Given the description of an element on the screen output the (x, y) to click on. 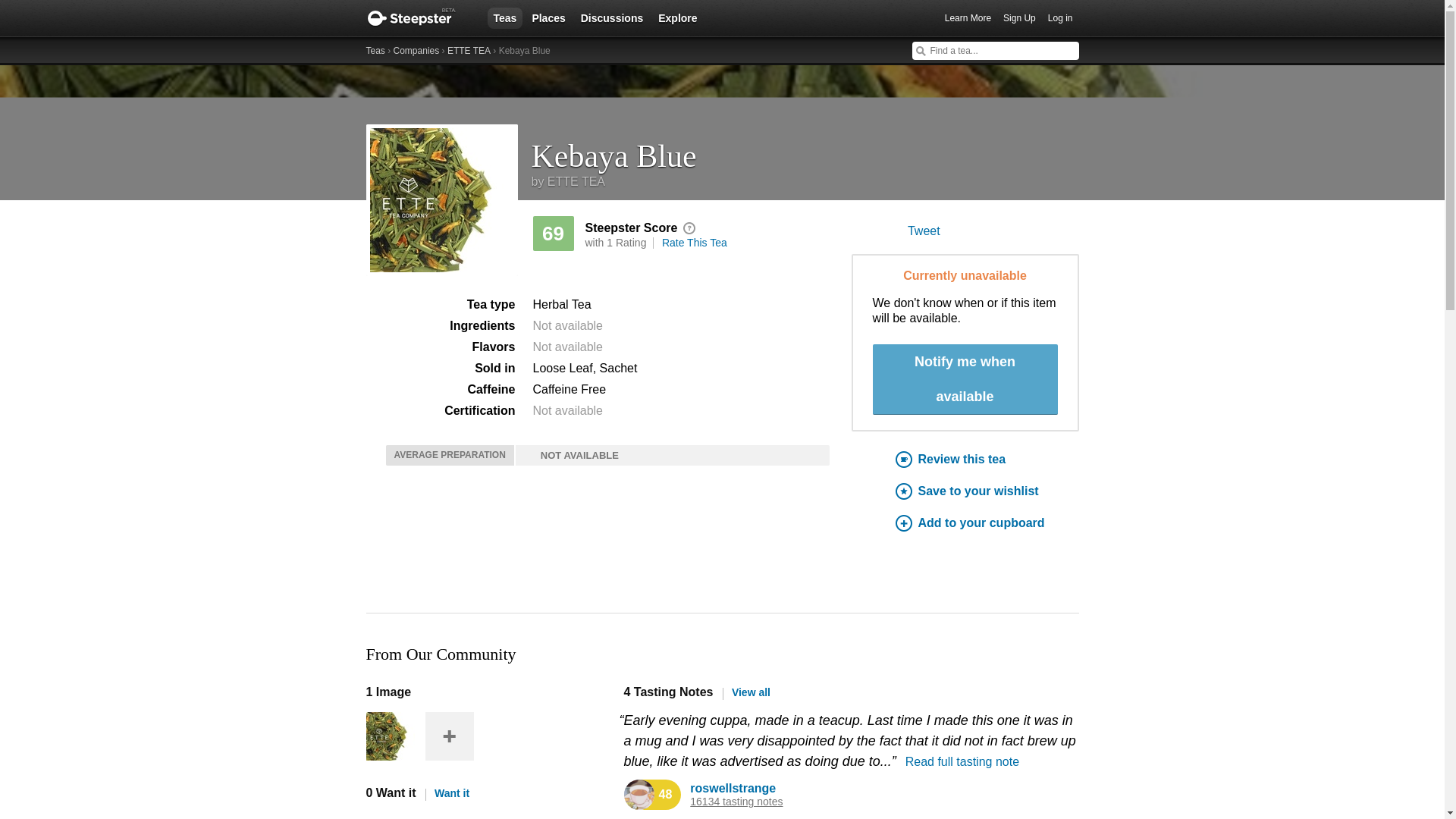
Sign Up (1019, 18)
Learn More (968, 18)
Read full tasting note (962, 761)
Companies (416, 50)
View all (746, 692)
Save to your wishlist (986, 490)
Steepster (418, 18)
Teas (374, 50)
Notify me when available (964, 378)
Explore (677, 17)
